Given the description of an element on the screen output the (x, y) to click on. 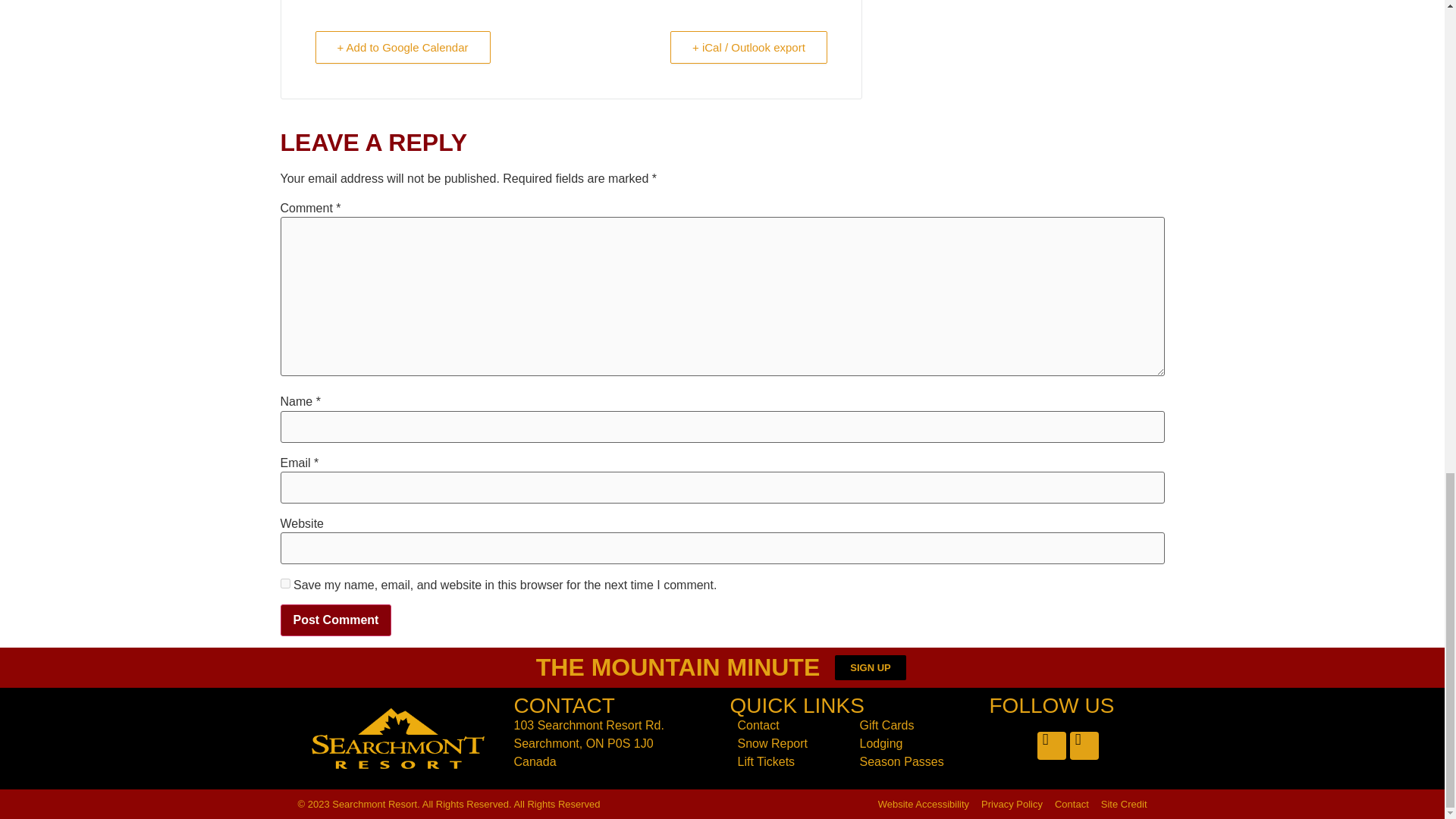
Post Comment (336, 620)
Season Passes (913, 761)
Gift Cards (913, 725)
Site Credit (1123, 804)
Post Comment (336, 620)
Snow Report (790, 743)
Lodging (913, 743)
yes (285, 583)
Website Accessibility (923, 804)
SIGN UP (869, 667)
Lift Tickets (790, 761)
Contact (1071, 804)
Contact (790, 725)
Privacy Policy (1011, 804)
